Given the description of an element on the screen output the (x, y) to click on. 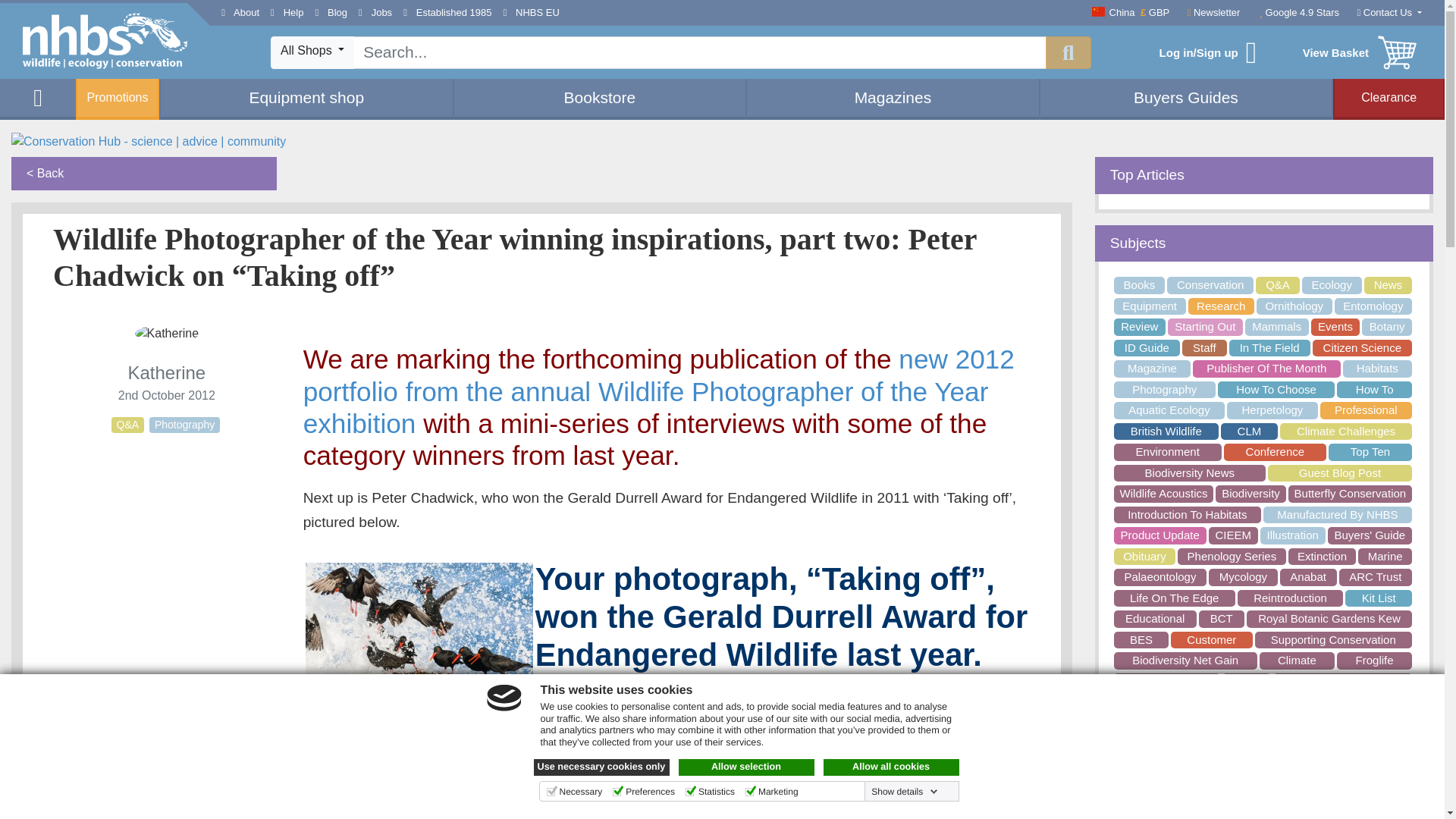
Show details (903, 791)
Allow all cookies (891, 767)
Allow selection (745, 767)
Use necessary cookies only (601, 767)
